Given the description of an element on the screen output the (x, y) to click on. 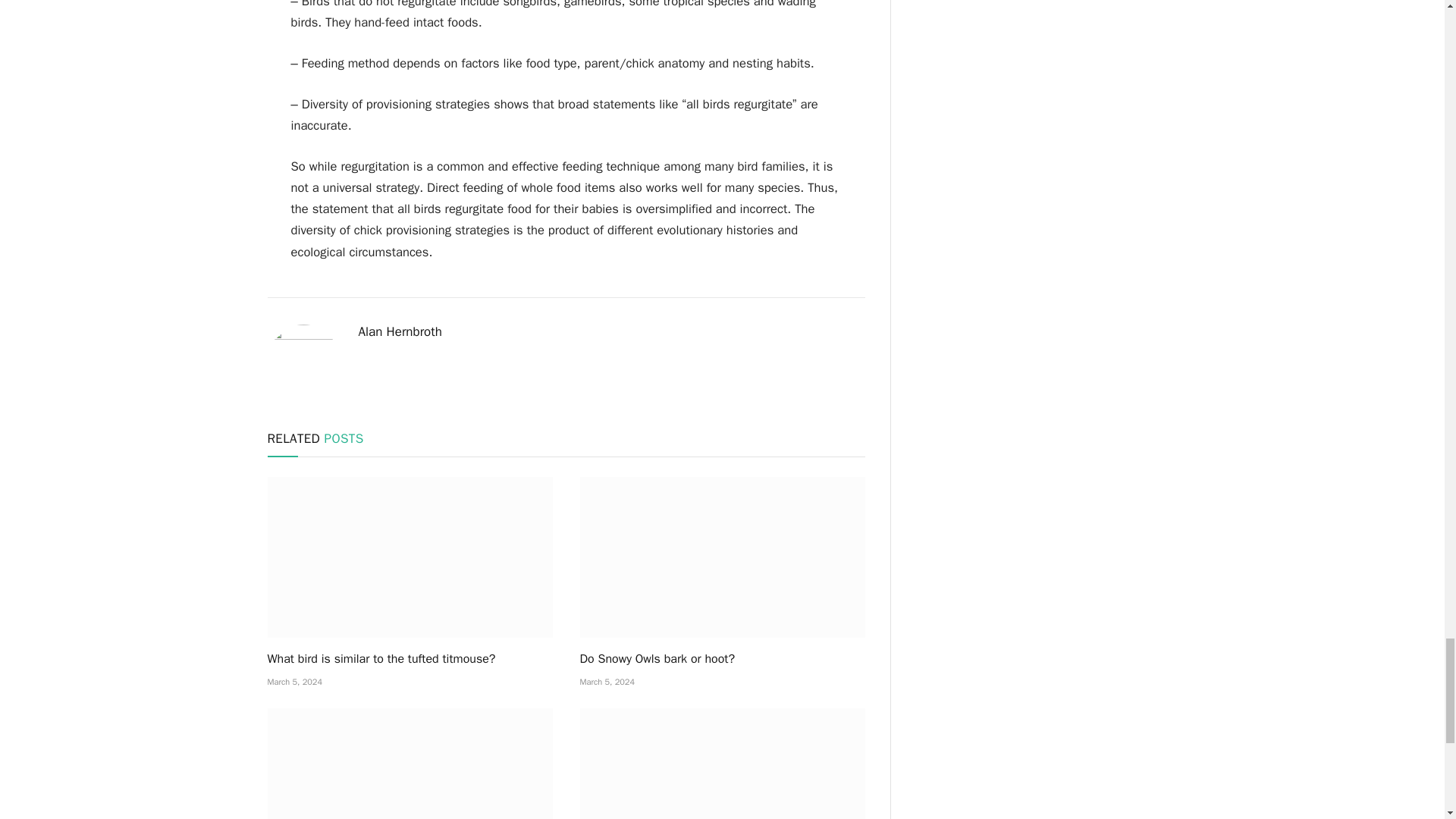
Do Snowy Owls bark or hoot? (721, 557)
What bird is similar to the tufted titmouse? (408, 659)
Alan Hernbroth (399, 331)
Do Snowy Owls bark or hoot? (721, 659)
Posts by Alan Hernbroth (399, 331)
What is the description of a parasitic Jaeger? (408, 763)
What bird is similar to the tufted titmouse? (408, 557)
